Given the description of an element on the screen output the (x, y) to click on. 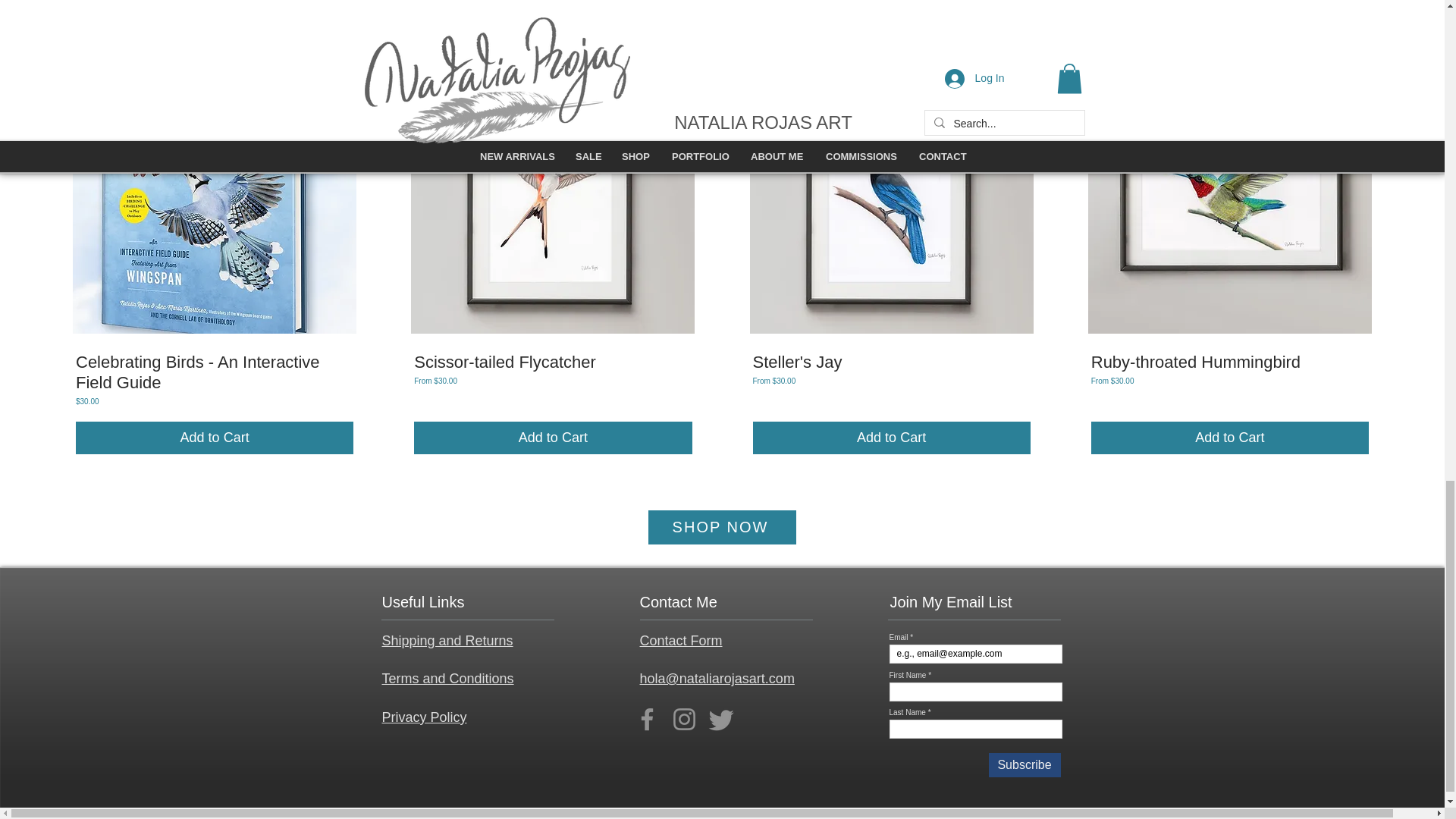
SIGNED BY NATALIA (214, 191)
Add to Cart (214, 437)
Add to Cart (552, 437)
Add to Cart (1229, 437)
Add to Cart (890, 437)
